Given the description of an element on the screen output the (x, y) to click on. 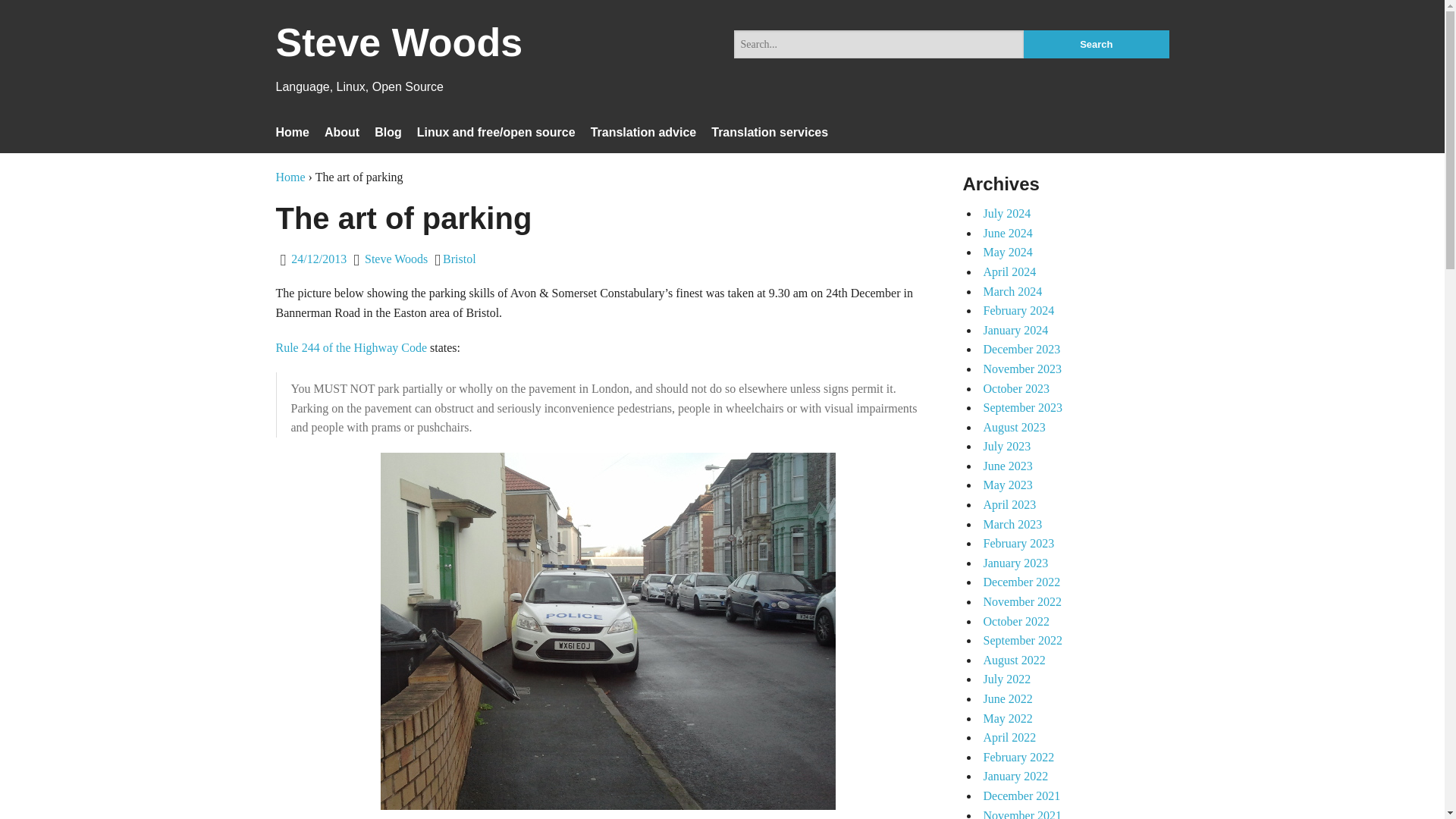
April 2024 (1008, 271)
Search (1096, 44)
Steve Woods (396, 258)
Home (292, 132)
Search (1096, 44)
Bristol (459, 258)
March 2024 (1012, 291)
Rule 244 of the Highway Code (352, 347)
Steve Woods (399, 51)
January 2024 (1015, 329)
About (341, 132)
Steve Woods (399, 51)
Blog (387, 132)
October 2023 (1015, 388)
July 2024 (1006, 213)
